Given the description of an element on the screen output the (x, y) to click on. 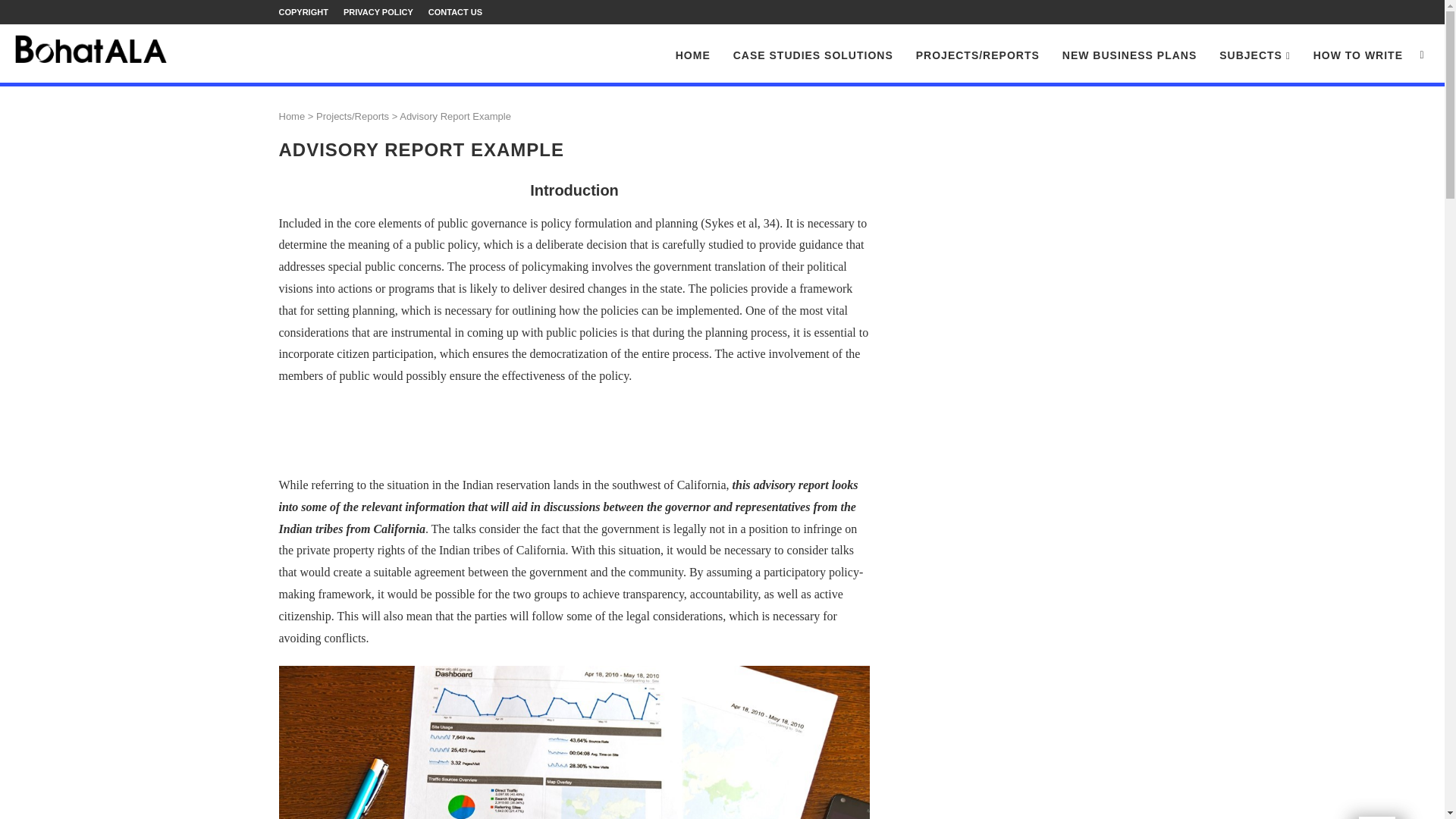
HOW TO WRITE (1358, 55)
SUBJECTS (1255, 55)
NEW BUSINESS PLANS (1129, 55)
CONTACT US (454, 12)
3rd party ad content (574, 434)
PRIVACY POLICY (378, 12)
CASE STUDIES SOLUTIONS (813, 55)
COPYRIGHT (304, 12)
Home (292, 116)
